Given the description of an element on the screen output the (x, y) to click on. 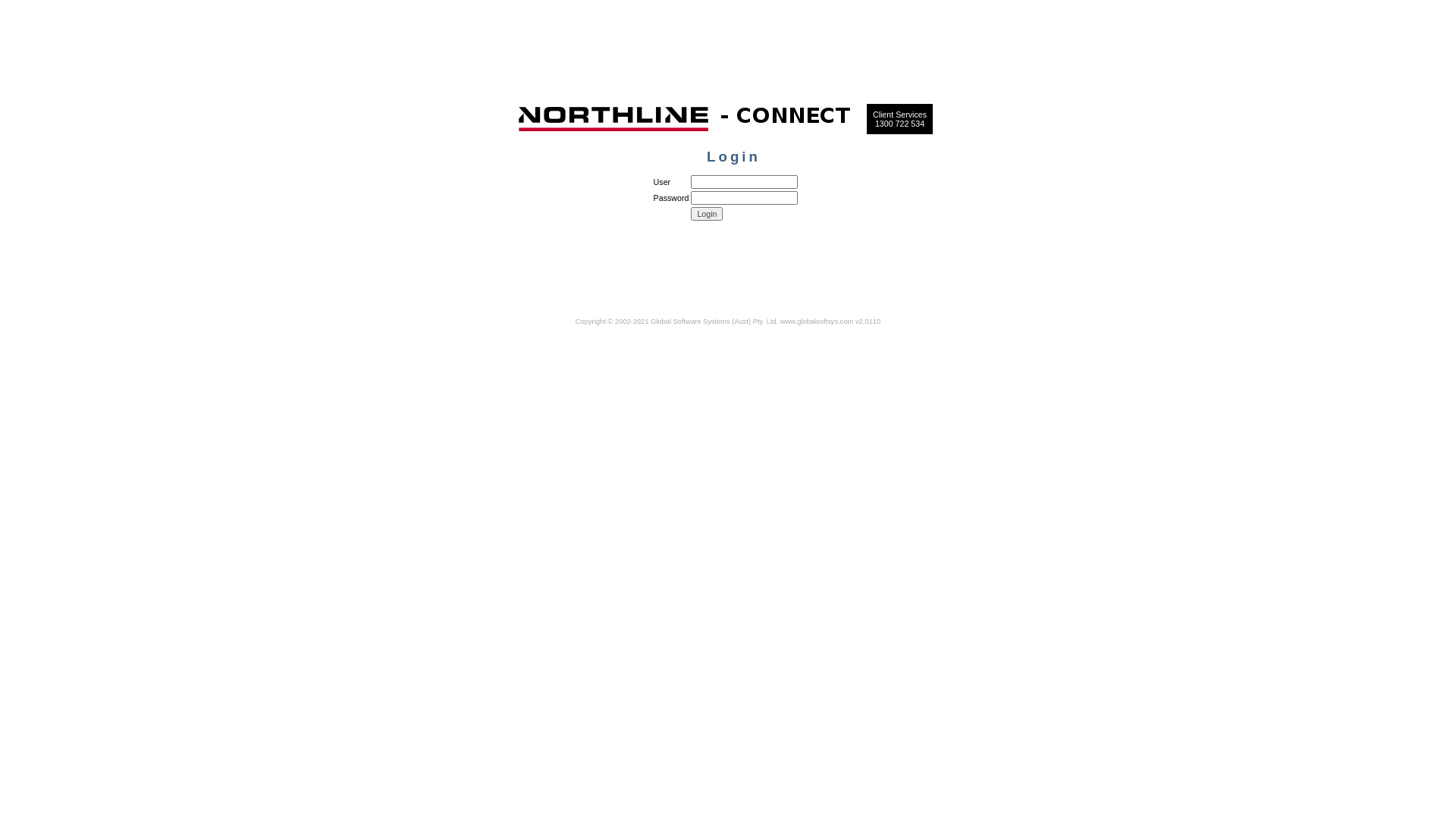
Login Element type: text (706, 213)
